Given the description of an element on the screen output the (x, y) to click on. 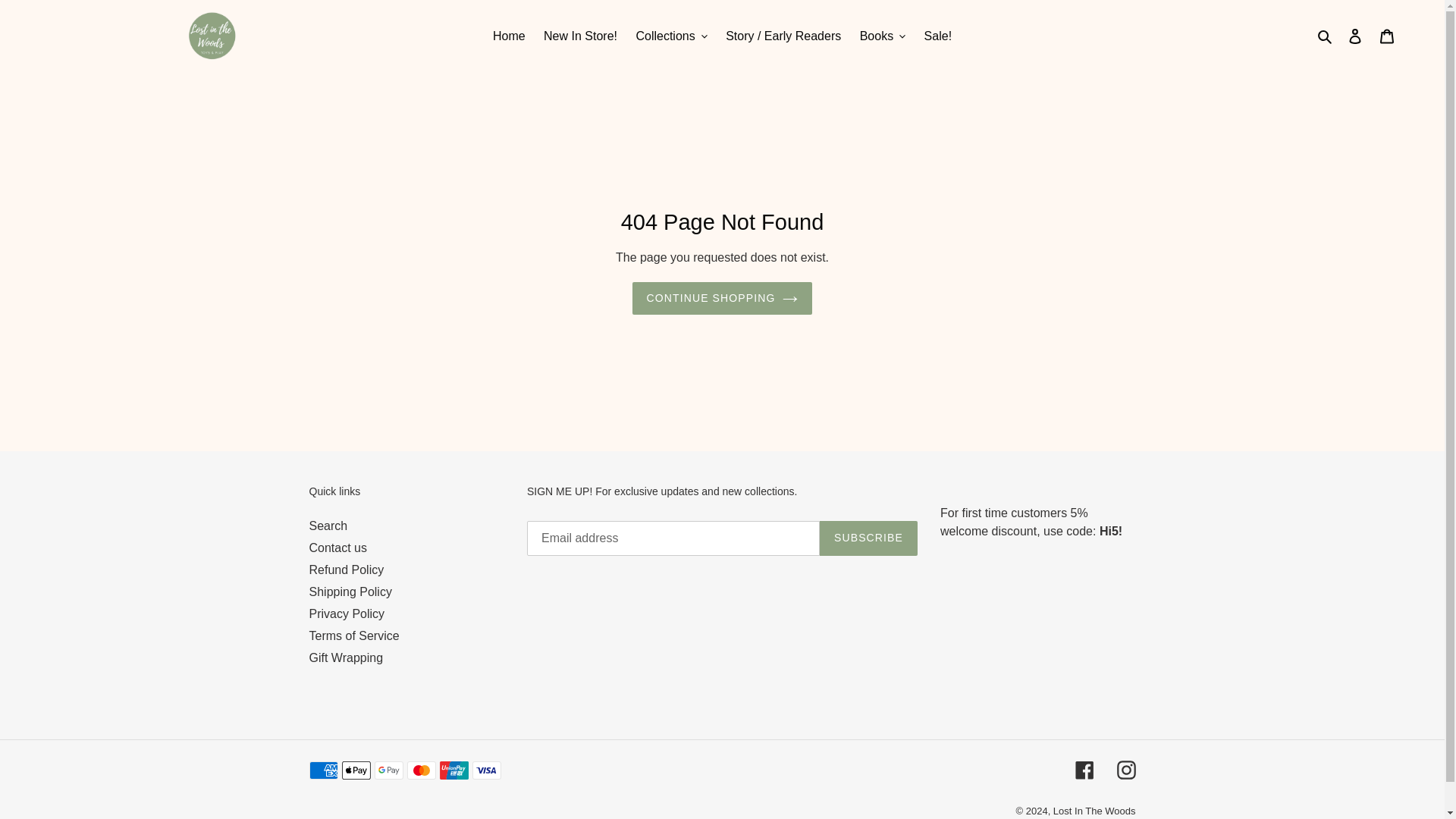
New In Store! (579, 35)
Log in (1355, 36)
Collections (670, 35)
Books (881, 35)
Cart (1387, 36)
Home (508, 35)
Sale! (938, 35)
Search (1326, 35)
